Given the description of an element on the screen output the (x, y) to click on. 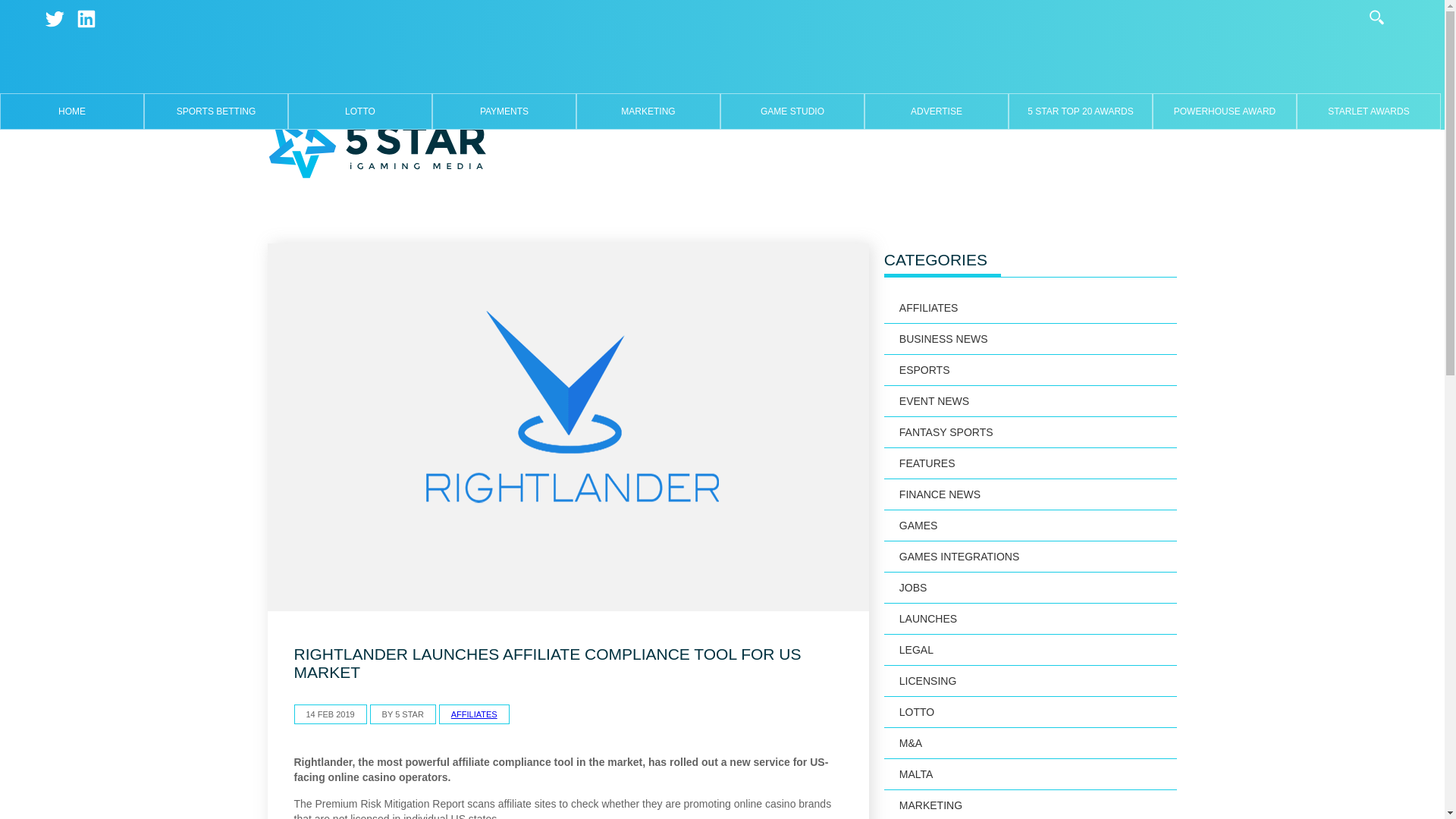
POWERHOUSE AWARD (1224, 111)
ESPORTS (1030, 369)
LOTTO (359, 111)
FANTASY SPORTS (1030, 432)
AFFILIATES (1030, 307)
AFFILIATES (474, 714)
5 STAR TOP 20 AWARDS (1080, 111)
STARLET AWARDS (1368, 111)
ADVERTISE (935, 111)
PAYMENTS (503, 111)
